Given the description of an element on the screen output the (x, y) to click on. 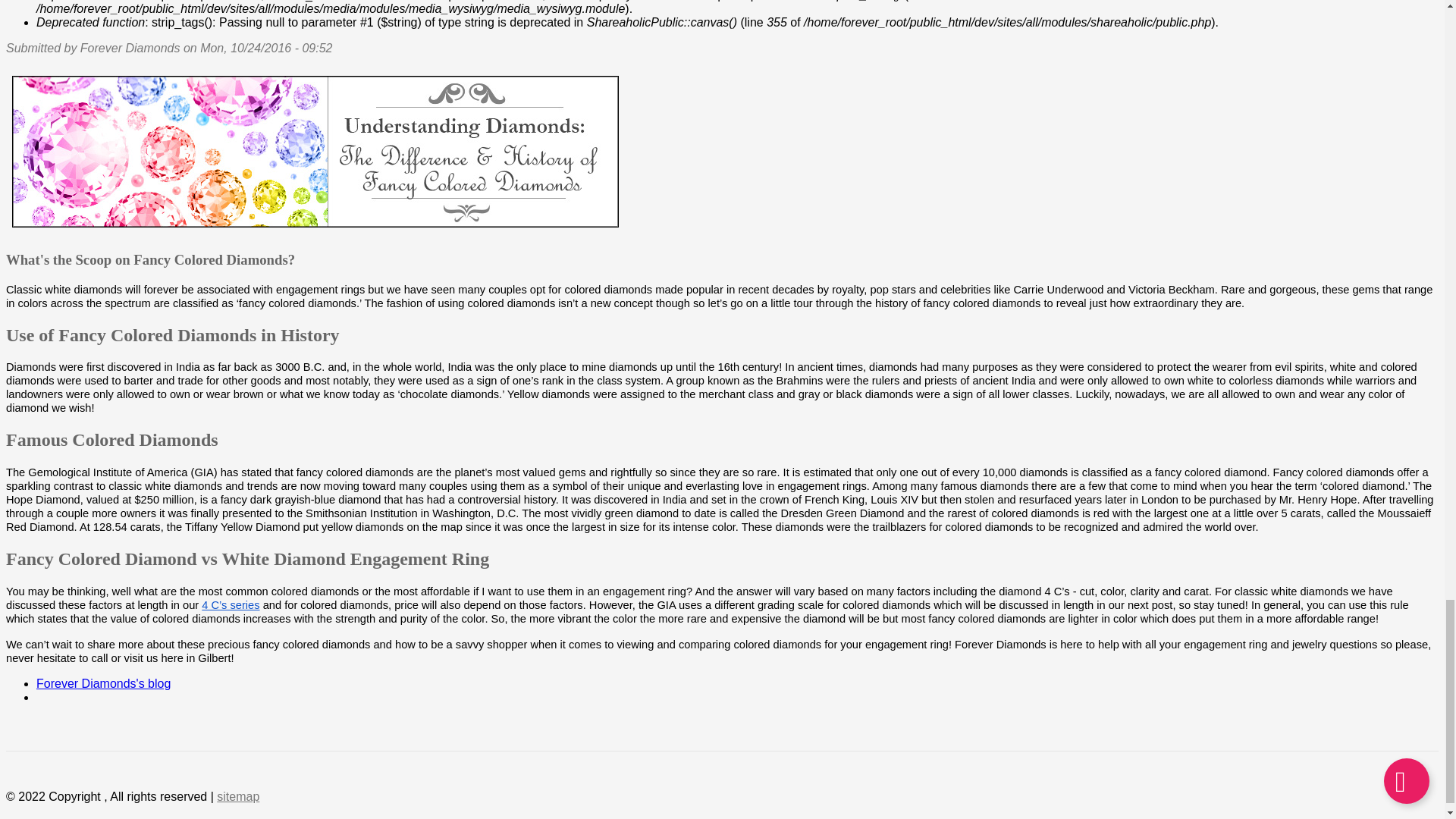
sitemap (237, 796)
Read Forever Diamonds's latest blog entries. (103, 683)
Forever Diamonds's blog (103, 683)
